Given the description of an element on the screen output the (x, y) to click on. 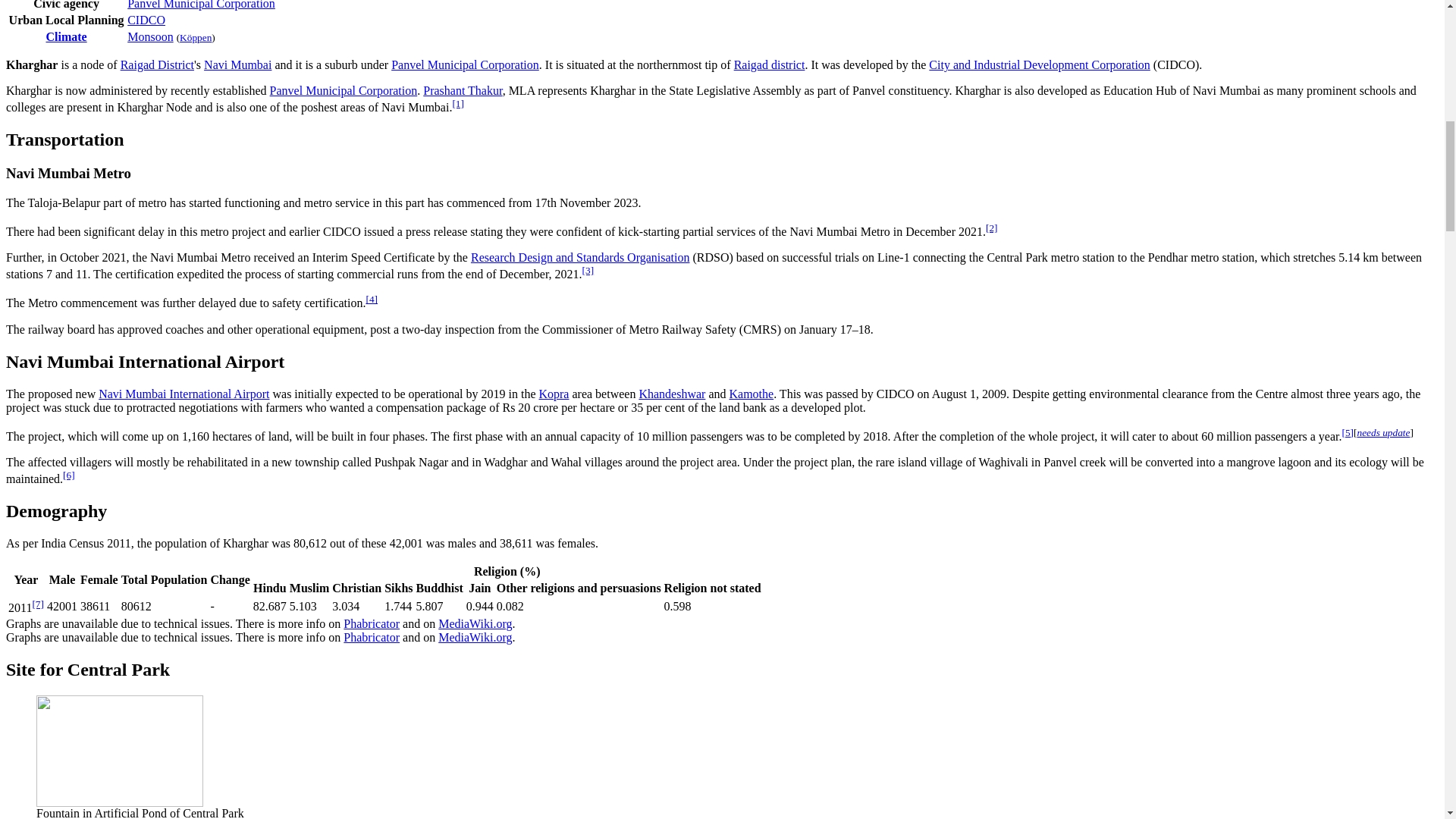
Navi Mumbai (236, 64)
Raigad District (156, 64)
Panvel Municipal Corporation (464, 64)
Panvel Municipal Corporation (201, 4)
City and Industrial Development Corporation (1039, 64)
Panvel Municipal Corporation (343, 90)
Raigad district (769, 64)
Climate (65, 36)
Research Design and Standards Organisation (580, 256)
CIDCO (146, 19)
